Given the description of an element on the screen output the (x, y) to click on. 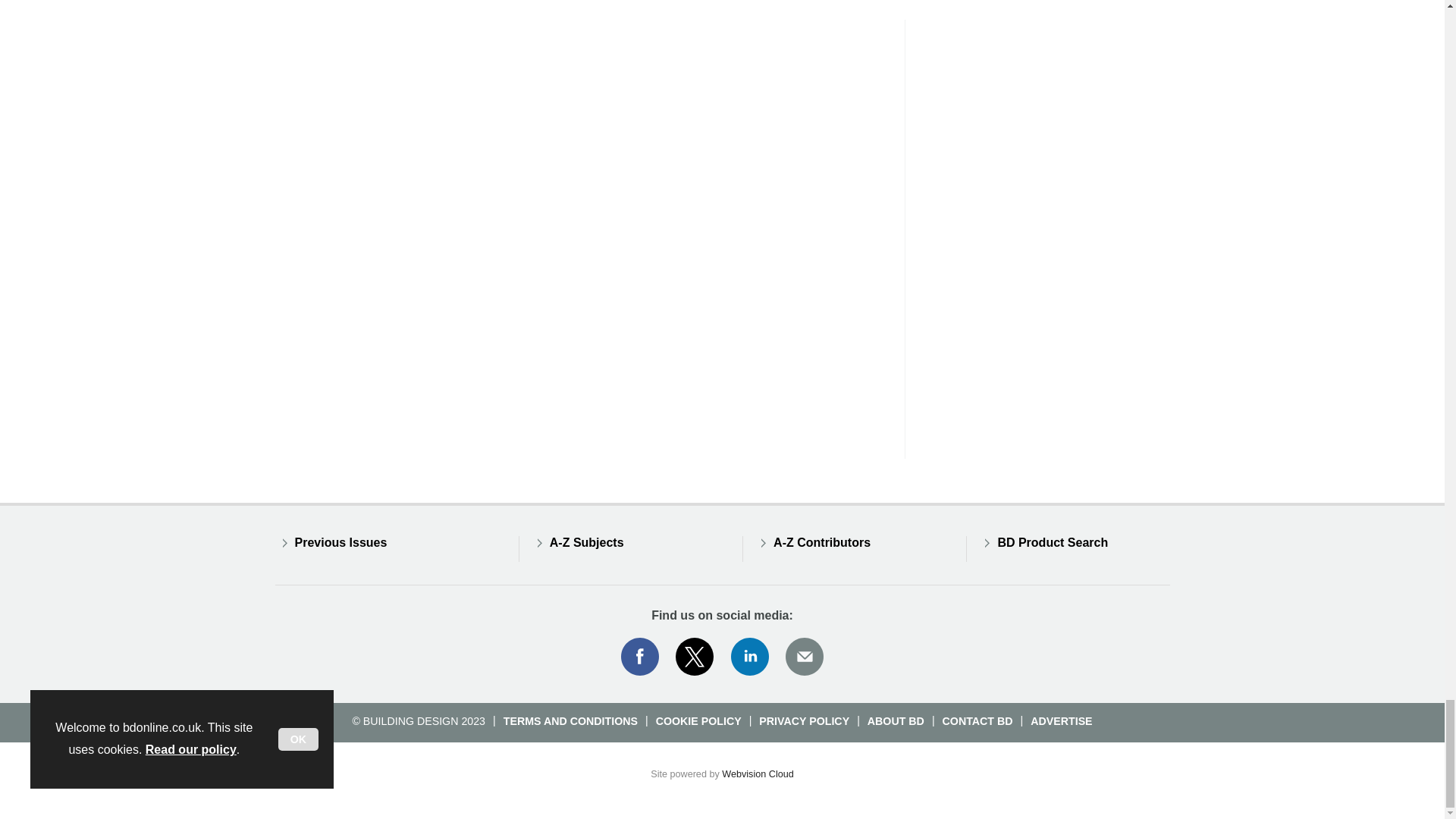
Connect with us on Linked in (750, 656)
Connect with us on Twitter (694, 656)
Email us (804, 656)
Connect with us on Facebook (639, 656)
